Given the description of an element on the screen output the (x, y) to click on. 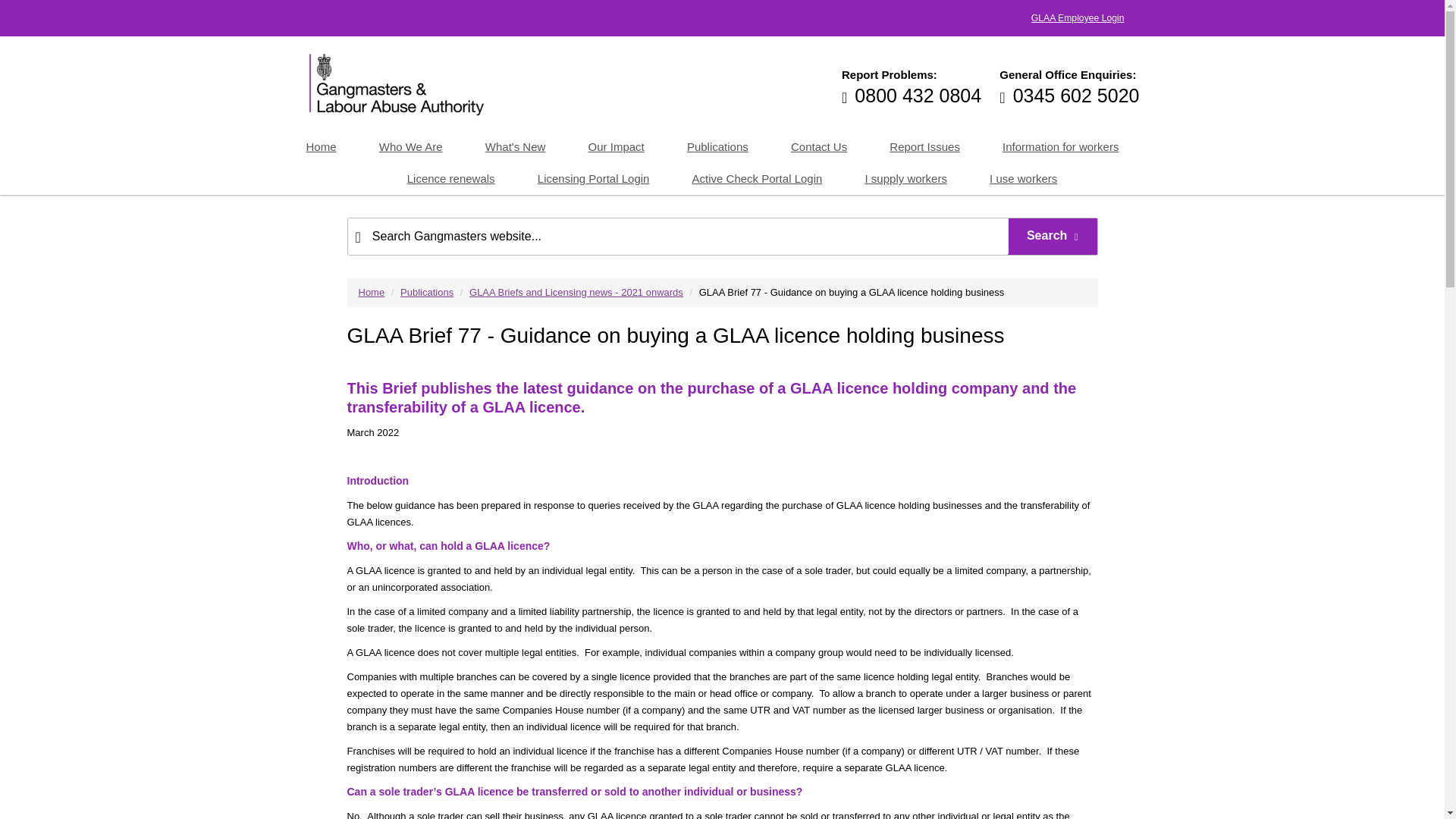
Home (326, 146)
Our Impact (616, 146)
GLAA (393, 83)
What's New (515, 146)
Publications (717, 146)
GLAA Employee Login (1078, 18)
Who We Are (411, 146)
